Given the description of an element on the screen output the (x, y) to click on. 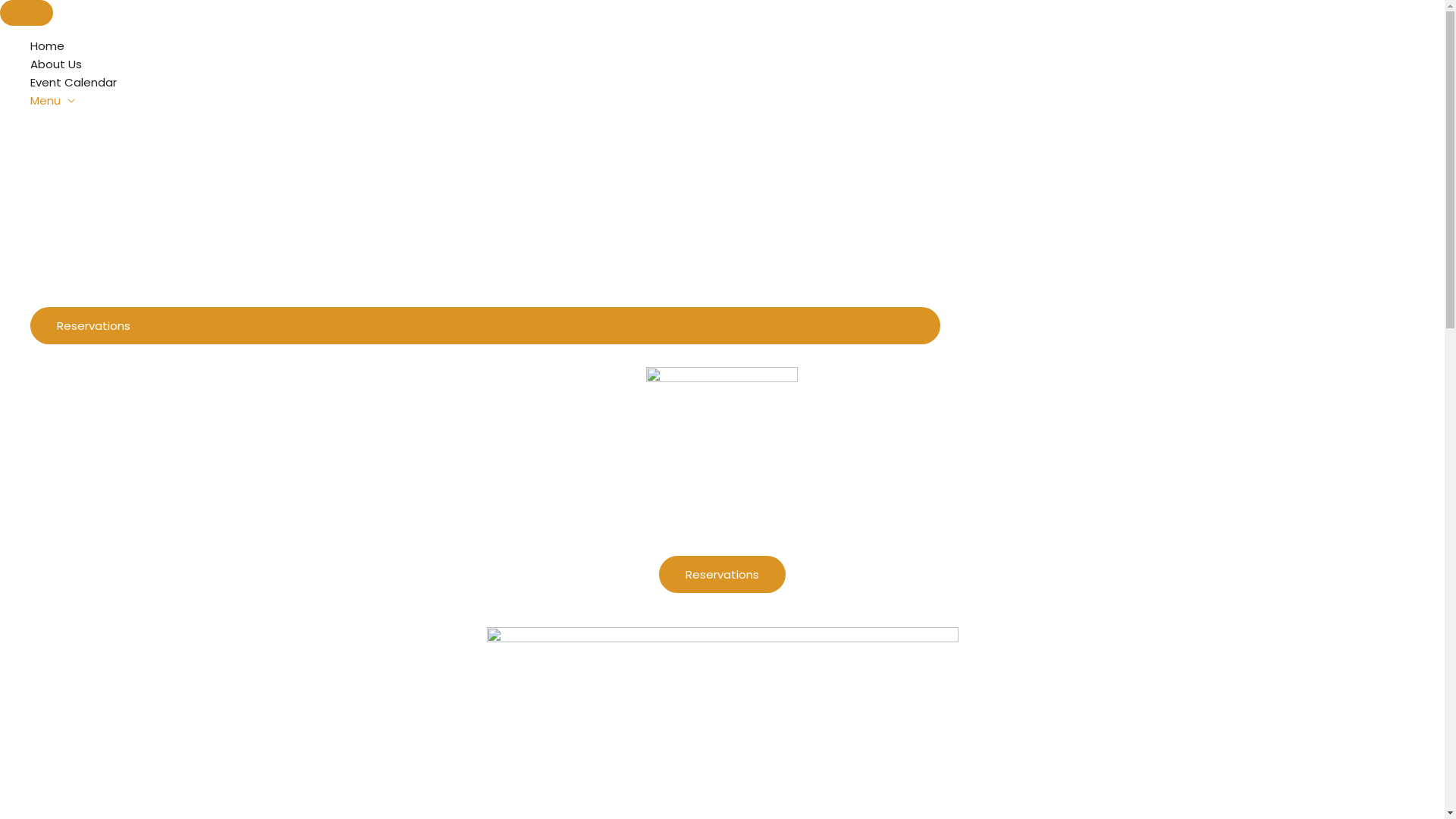
About Us Element type: text (485, 64)
Home Element type: text (485, 46)
Menu Toggle Element type: text (485, 122)
Reservations Element type: text (721, 574)
Reservations Element type: text (485, 325)
Event Calendar Element type: text (485, 82)
Menu Element type: text (485, 100)
Main Menu Element type: text (26, 12)
